Given the description of an element on the screen output the (x, y) to click on. 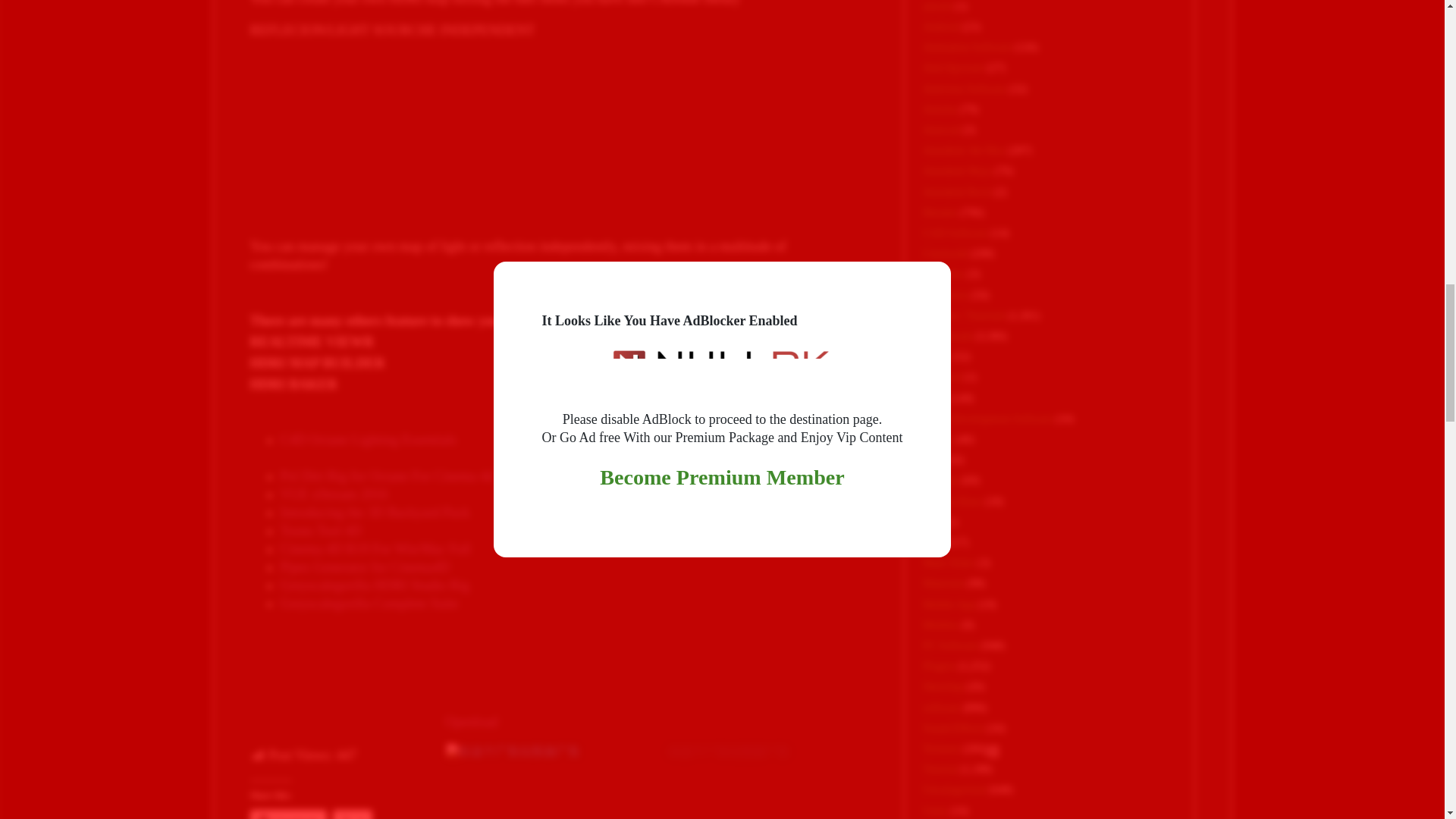
Openload (471, 721)
X (352, 814)
Introducing the 3D Backyard Pack (375, 512)
4D Octane Lighting Essentials (373, 439)
Click to share on Facebook (288, 814)
Toons Tool 4D (321, 530)
Pxl Dirt Rig for Octane For Cinema 4d (387, 476)
Pipes Generator for Cinema4D (365, 566)
Greyscalegorilla Complete Suite (369, 603)
Greyscalegorilla HDRI Studio Rig (374, 585)
Facebook (288, 814)
independent (473, 135)
VUE xStream 2016 (334, 494)
